Given the description of an element on the screen output the (x, y) to click on. 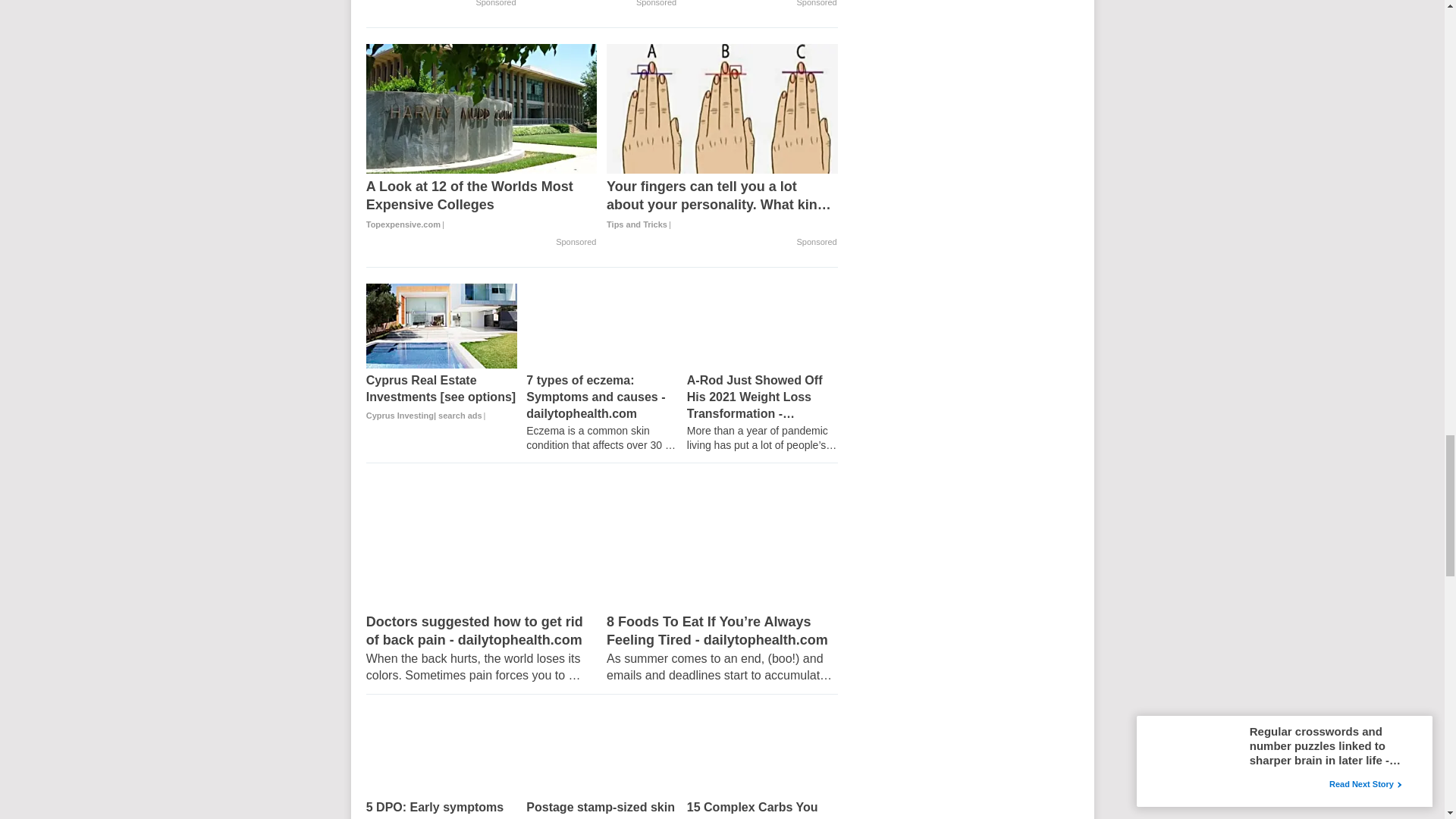
Sponsored (495, 3)
